Given the description of an element on the screen output the (x, y) to click on. 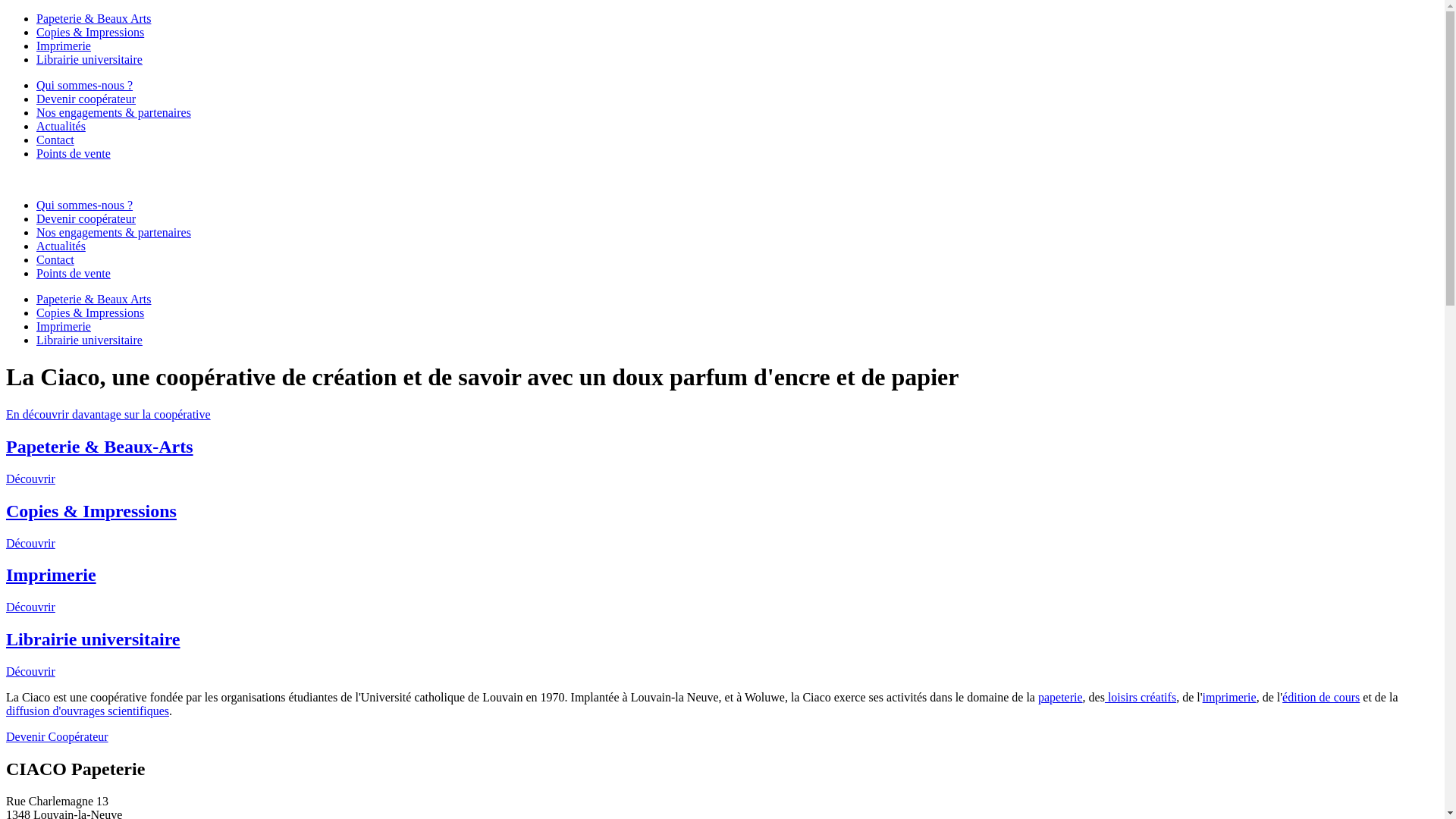
Qui sommes-nous ? Element type: text (84, 204)
Imprimerie Element type: text (63, 326)
imprimerie Element type: text (1229, 696)
Papeterie & Beaux Arts Element type: text (93, 298)
Aller au contenu principal Element type: text (69, 12)
Nos engagements & partenaires Element type: text (113, 112)
diffusion d'ouvrages scientifiques Element type: text (87, 710)
Contact Element type: text (55, 139)
Points de vente Element type: text (73, 153)
papeterie Element type: text (1060, 696)
Imprimerie Element type: text (63, 45)
Copies & Impressions Element type: text (90, 31)
Copies & Impressions Element type: text (90, 312)
Nos engagements & partenaires Element type: text (113, 231)
Papeterie & Beaux Arts Element type: text (93, 18)
Qui sommes-nous ? Element type: text (84, 84)
Librairie universitaire Element type: text (89, 59)
Points de vente Element type: text (73, 272)
Librairie universitaire Element type: text (89, 339)
Contact Element type: text (55, 259)
